Given the description of an element on the screen output the (x, y) to click on. 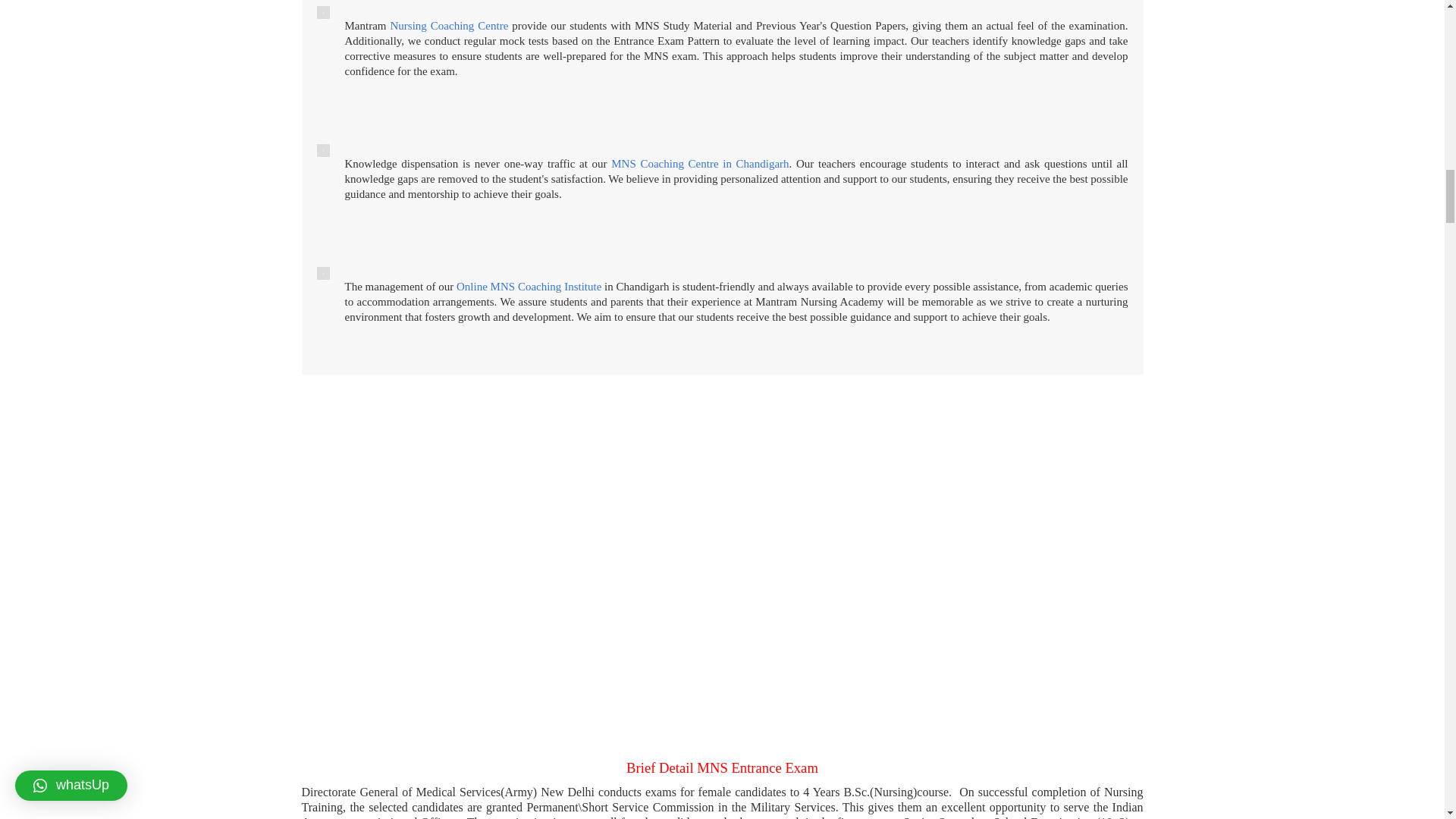
Nursing Coaching Centre (449, 25)
Online MNS Coaching Institute (529, 286)
MNS Coaching Centre in Chandigarh (700, 163)
